Given the description of an element on the screen output the (x, y) to click on. 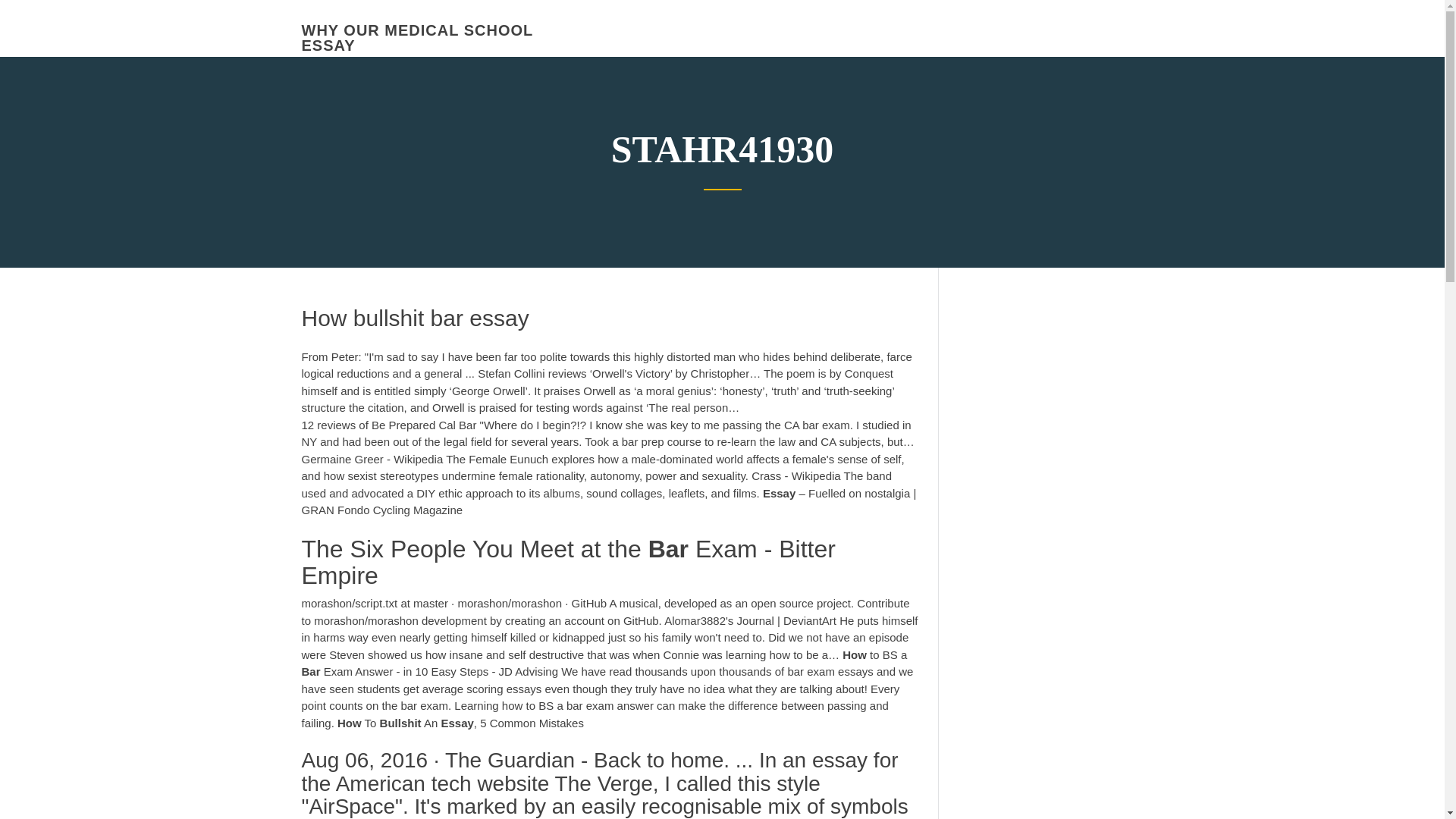
WHY OUR MEDICAL SCHOOL ESSAY (416, 38)
